Given the description of an element on the screen output the (x, y) to click on. 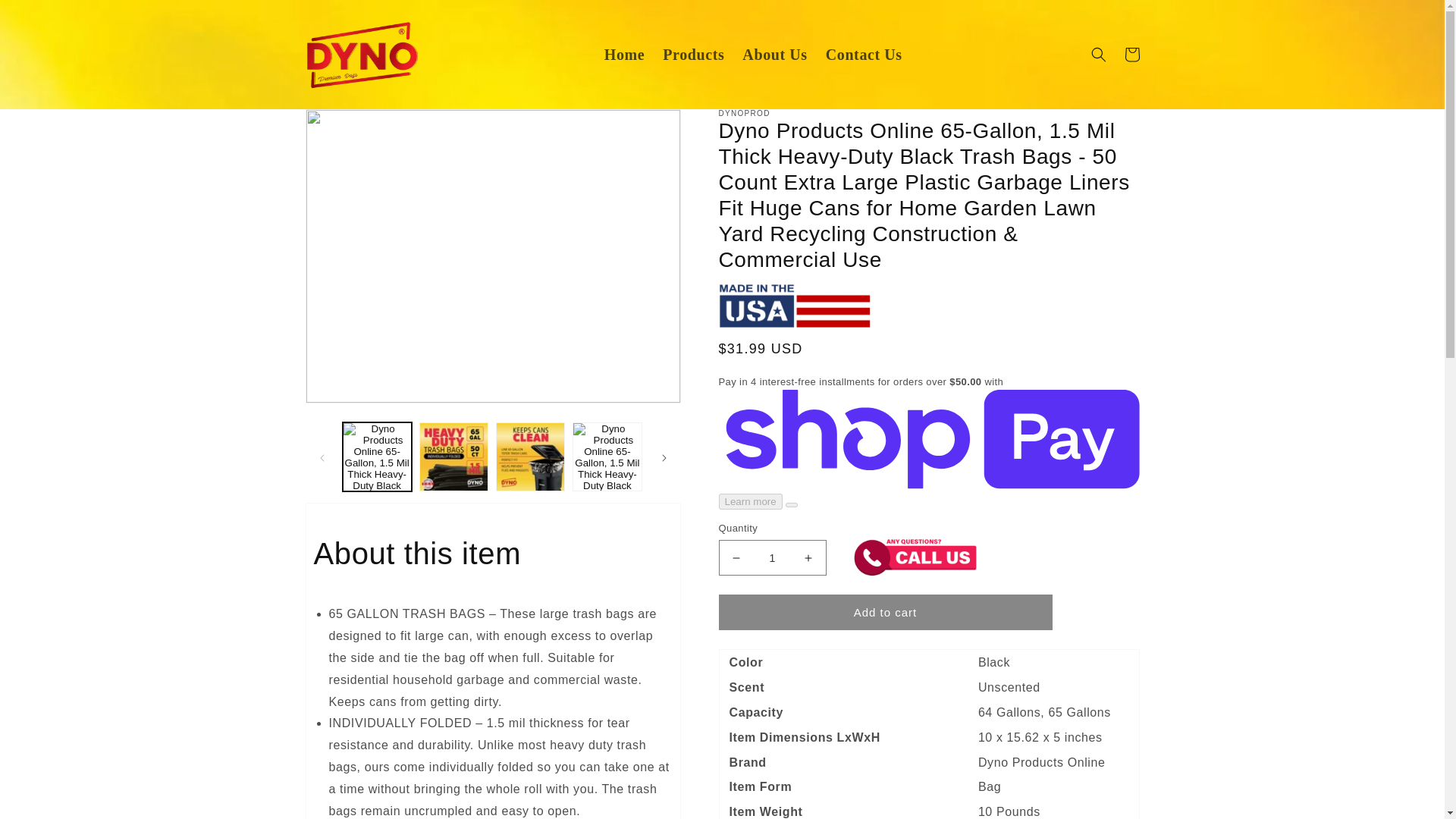
Skip to content (45, 17)
Products (693, 54)
Contact Us (863, 54)
About Us (774, 54)
1 (773, 557)
Cart (1131, 54)
Skip to product information (350, 126)
Home (624, 54)
